Given the description of an element on the screen output the (x, y) to click on. 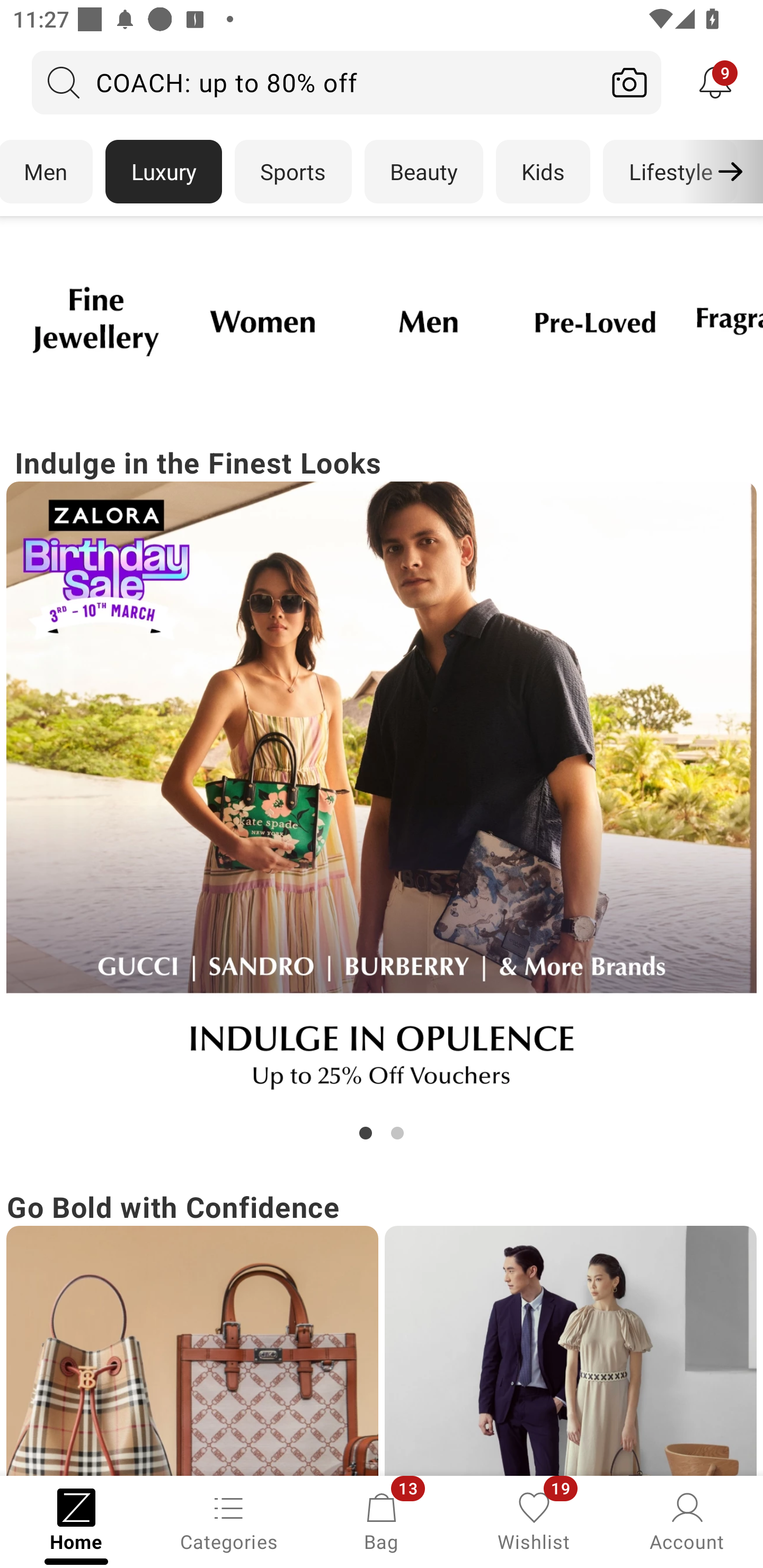
COACH: up to 80% off (314, 82)
Men (46, 171)
Luxury (163, 171)
Sports (293, 171)
Beauty (423, 171)
Kids (542, 171)
Lifestyle (669, 171)
Campaign banner (95, 321)
Campaign banner (261, 321)
Campaign banner (428, 321)
Campaign banner (594, 321)
 Indulge in the Finest Looks Campaign banner (381, 792)
Campaign banner (381, 797)
Campaign banner (192, 1350)
Campaign banner (570, 1350)
Categories (228, 1519)
Bag, 13 new notifications Bag (381, 1519)
Wishlist, 19 new notifications Wishlist (533, 1519)
Account (686, 1519)
